Given the description of an element on the screen output the (x, y) to click on. 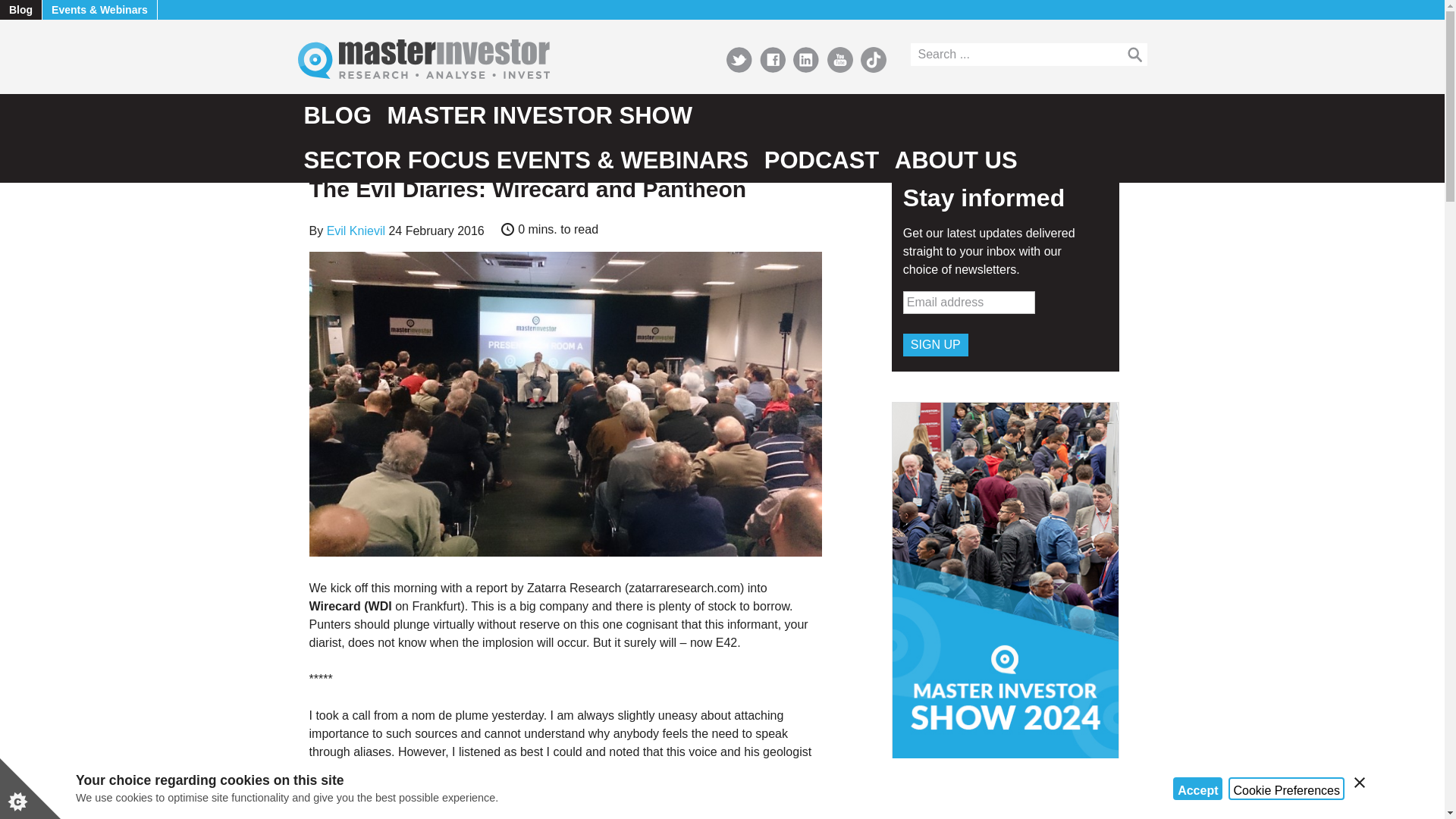
PODCAST (821, 160)
ABOUT US (955, 160)
YouTube (840, 59)
Sign up (935, 344)
MASTER INVESTOR SHOW (539, 116)
Facebook (773, 59)
Evil Knievil (355, 230)
HOME (322, 150)
Blog (21, 9)
TikTok (873, 59)
LinkedIn (805, 59)
Go to the Evil Diaries category archives. (375, 150)
Posts by Evil Knievil (355, 230)
Twitter (739, 59)
